Given the description of an element on the screen output the (x, y) to click on. 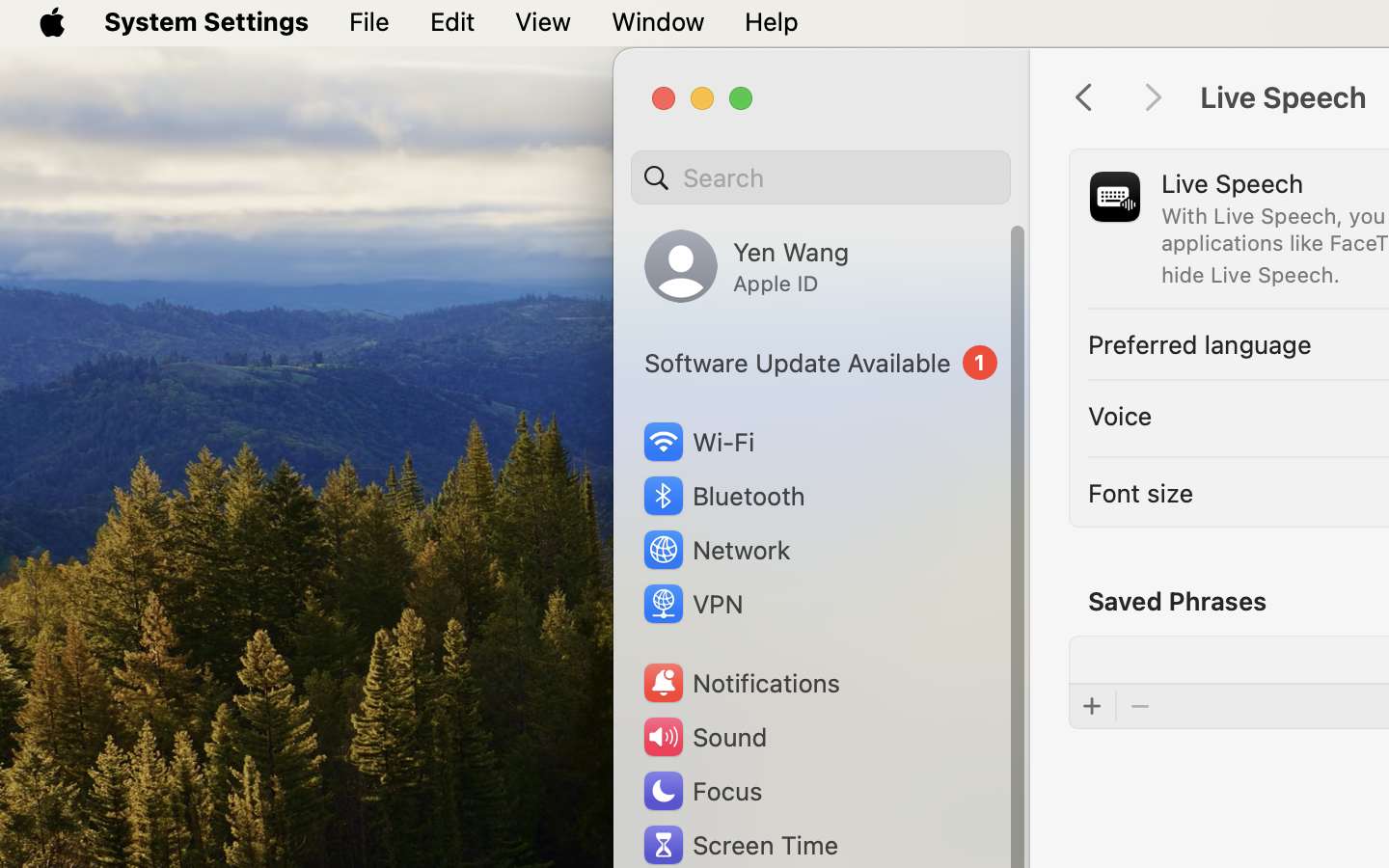
Bluetooth Element type: AXStaticText (723, 495)
Font size Element type: AXStaticText (1141, 491)
Screen Time Element type: AXStaticText (739, 844)
Notifications Element type: AXStaticText (740, 682)
